Given the description of an element on the screen output the (x, y) to click on. 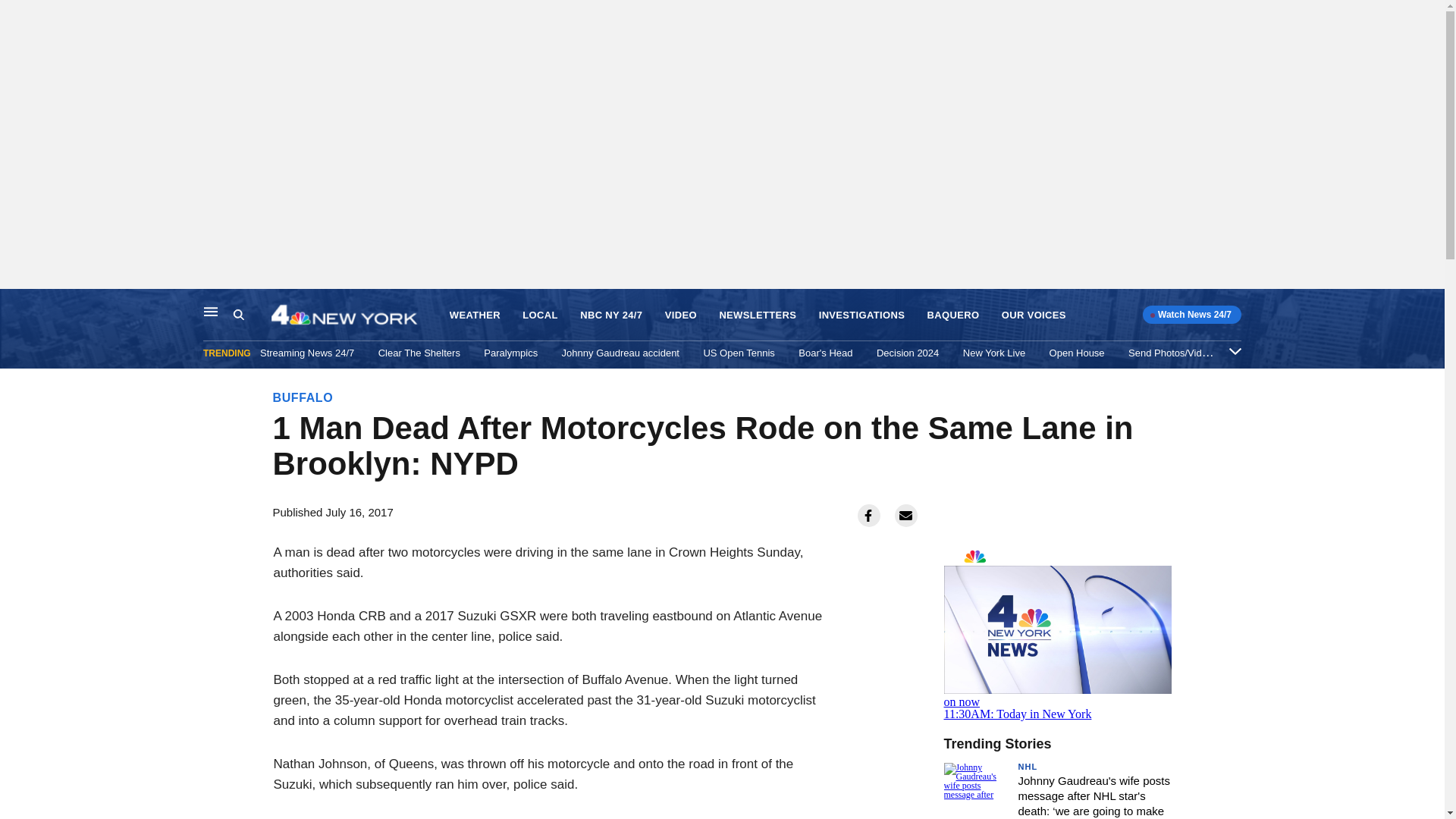
New York Live (993, 352)
LOCAL (539, 315)
BAQUERO (953, 315)
Decision 2024 (907, 352)
OUR VOICES (1033, 315)
NEWSLETTERS (757, 315)
Johnny Gaudreau accident (620, 352)
Open House (1077, 352)
Search (252, 314)
